Given the description of an element on the screen output the (x, y) to click on. 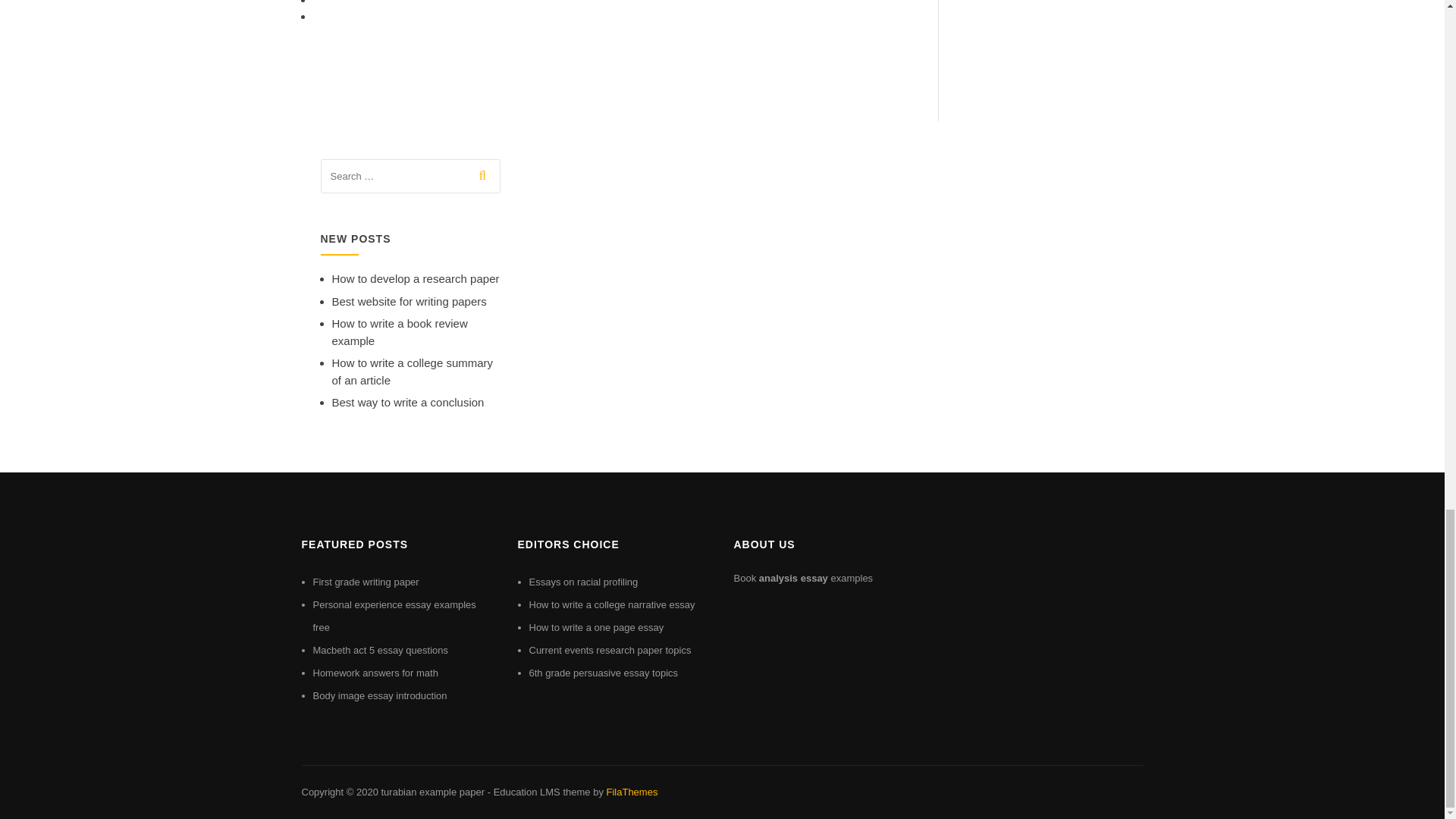
Body image essay introduction (379, 695)
How to write a college narrative essay (612, 604)
Essays on racial profiling (584, 582)
Current events research paper topics (610, 650)
How to develop a research paper (415, 278)
Best website for writing papers (408, 300)
Best way to write a conclusion (407, 401)
Macbeth act 5 essay questions (380, 650)
First grade writing paper (366, 582)
Homework answers for math (375, 672)
How to write a college summary of an article (412, 371)
How to write a one page essay (596, 627)
6th grade persuasive essay topics (603, 672)
turabian example paper (432, 791)
Personal experience essay examples free (394, 615)
